Given the description of an element on the screen output the (x, y) to click on. 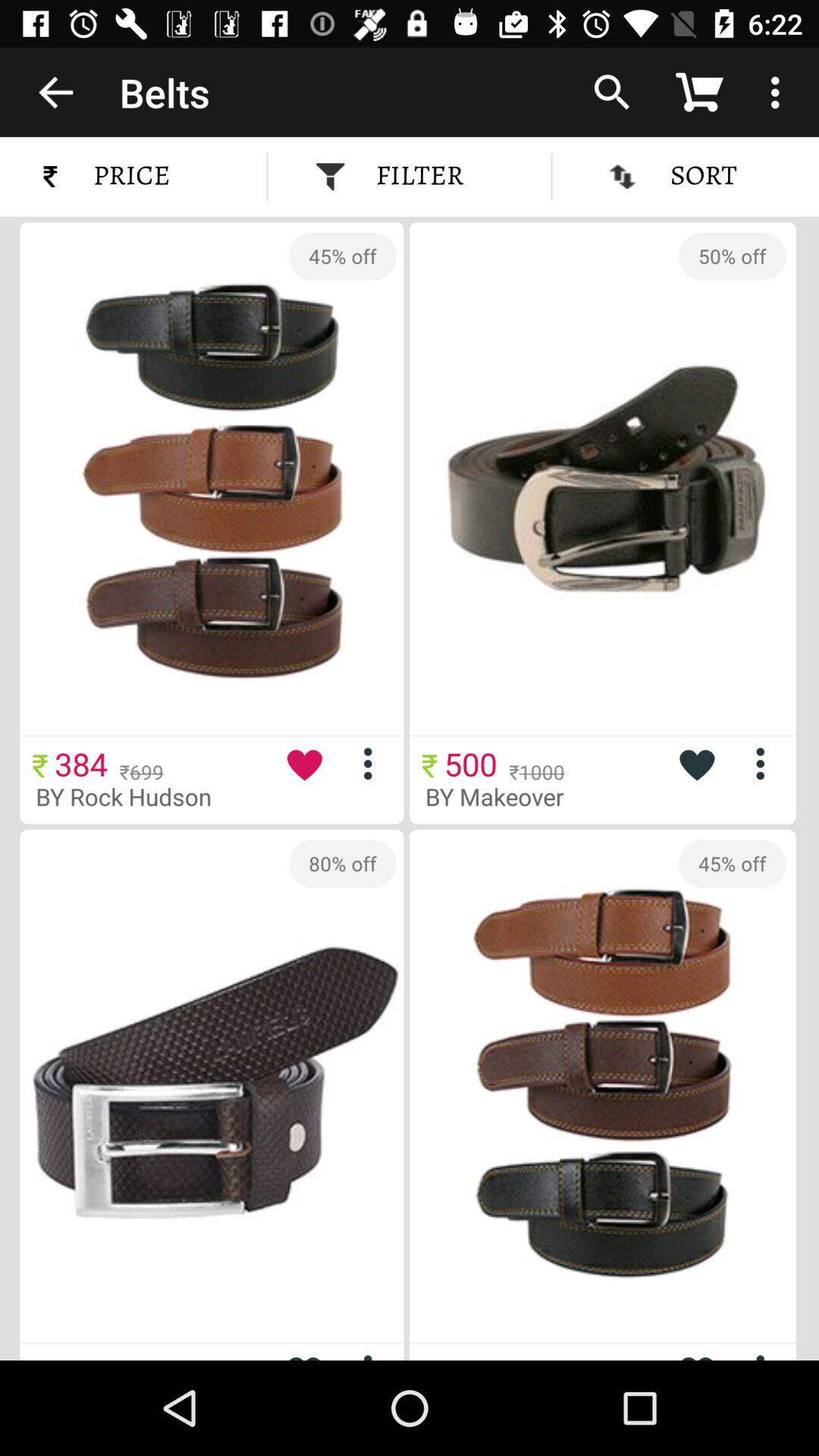
add to favorite (696, 1351)
